Given the description of an element on the screen output the (x, y) to click on. 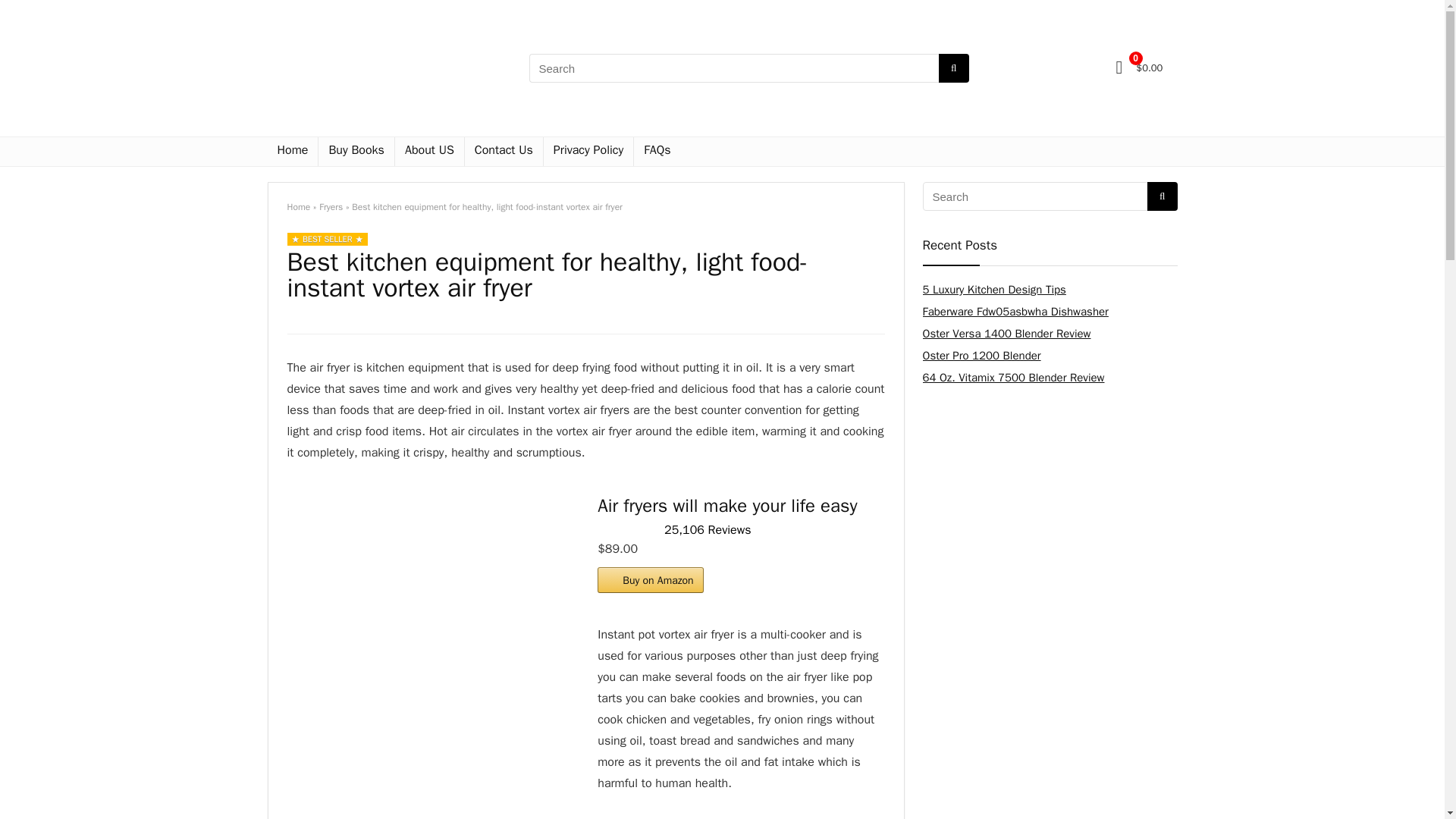
Home (298, 206)
5 Luxury Kitchen Design Tips (993, 289)
Oster Versa 1400 Blender Review (1005, 333)
Buy Books (356, 151)
Privacy Policy (588, 151)
64 Oz. Vitamix 7500 Blender Review (1012, 377)
Air fryers will make your life easy (726, 505)
Fryers (330, 206)
Oster Pro 1200 Blender (981, 355)
Air fryers will make your life easy (430, 543)
Home (291, 151)
Reviews on Amazon (627, 528)
Air fryers will make your life easy (726, 505)
Buy on Amazon (649, 579)
Contact Us (503, 151)
